Given the description of an element on the screen output the (x, y) to click on. 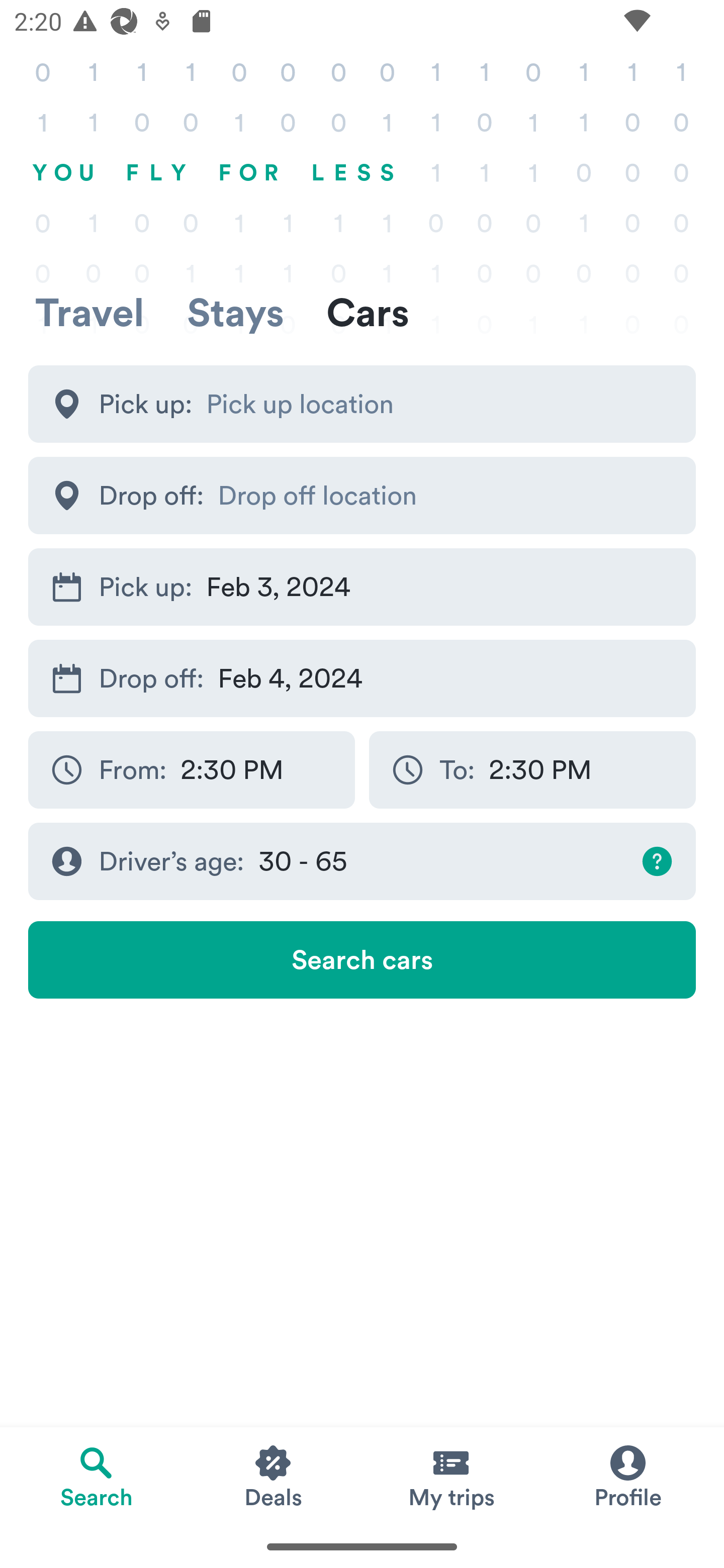
Travel (89, 311)
Stays (235, 311)
Cars (367, 311)
Pick up: (361, 404)
Drop off: (361, 495)
Pick up: Feb 3, 2024 (361, 586)
Drop off: Feb 4, 2024 (361, 678)
From: 2:30 PM (191, 769)
To: 2:30 PM (532, 769)
Driver’s age: 30 - 65 (361, 860)
Search cars (361, 959)
Deals (273, 1475)
My trips (450, 1475)
Profile (627, 1475)
